Given the description of an element on the screen output the (x, y) to click on. 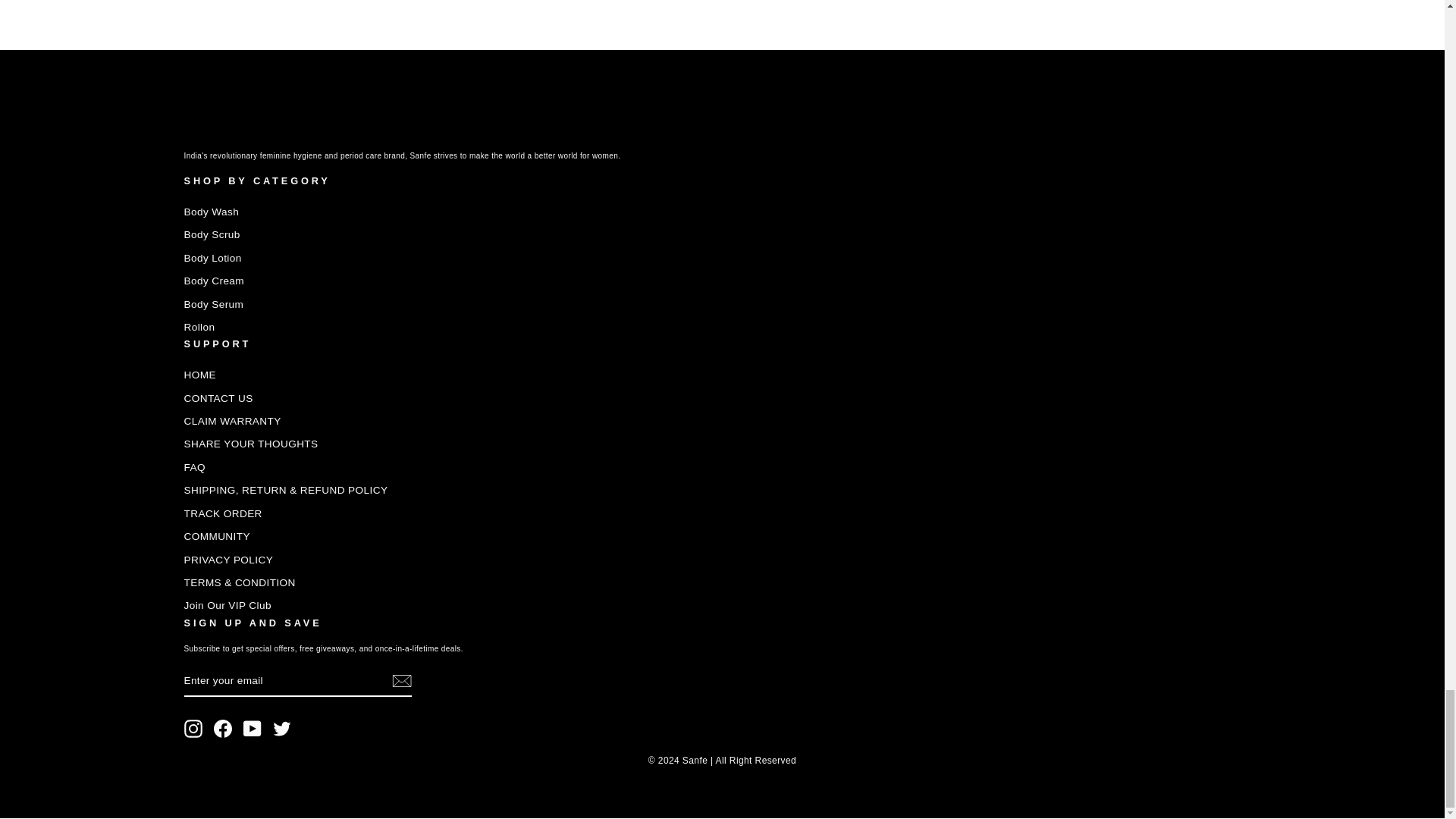
instagram (192, 728)
Sanfe on Facebook (222, 728)
icon-email (400, 680)
Sanfe on Twitter (282, 728)
Sanfe on YouTube (251, 728)
Sanfe on Instagram (192, 728)
